Given the description of an element on the screen output the (x, y) to click on. 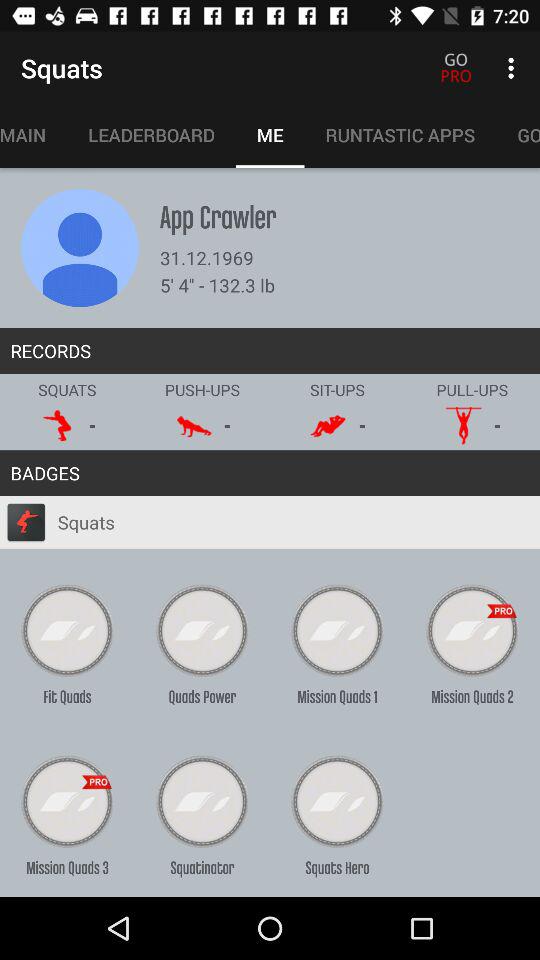
open icon to the left of the leaderboard icon (33, 135)
